Given the description of an element on the screen output the (x, y) to click on. 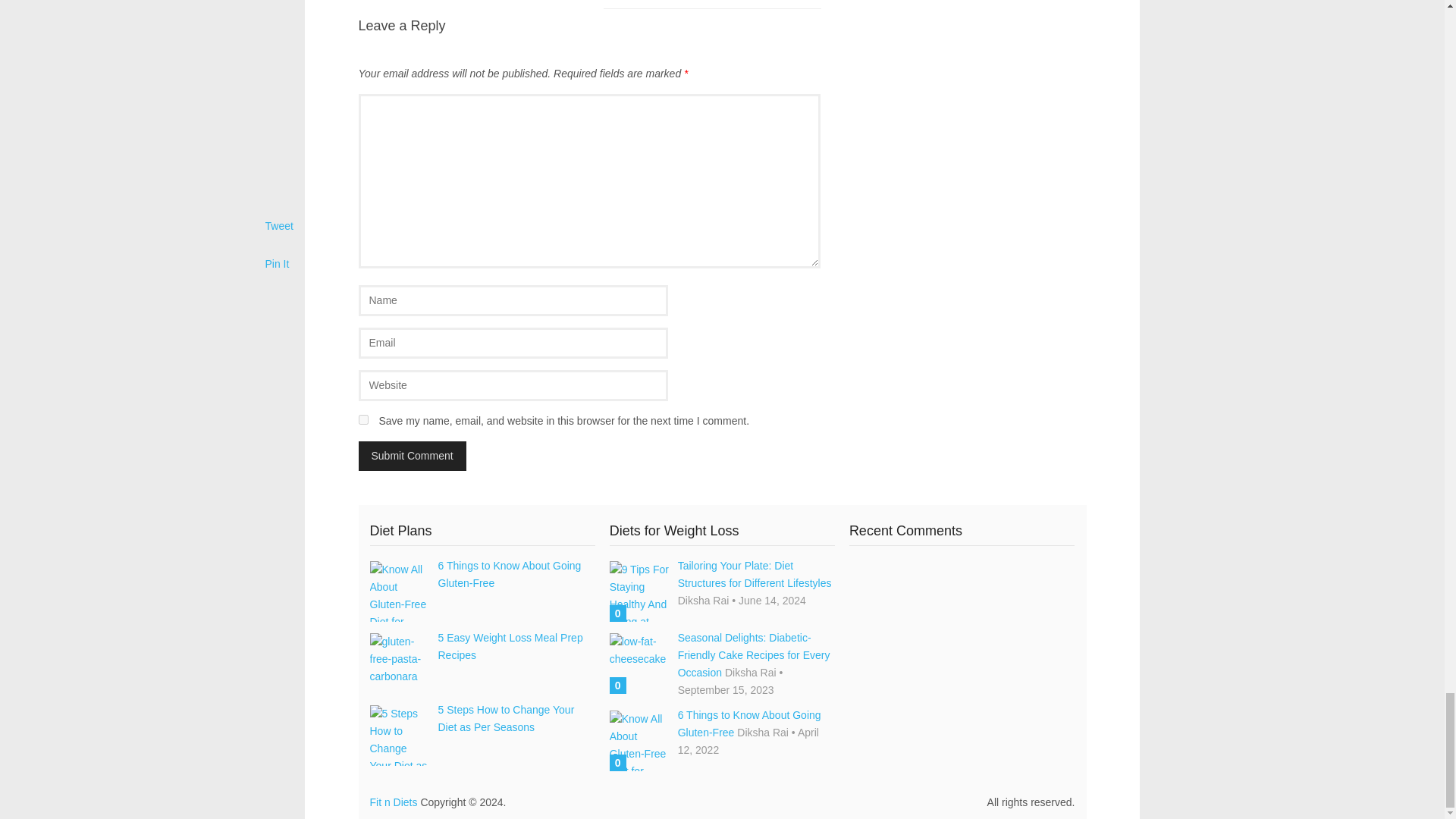
yes (363, 419)
Submit Comment (411, 455)
